Given the description of an element on the screen output the (x, y) to click on. 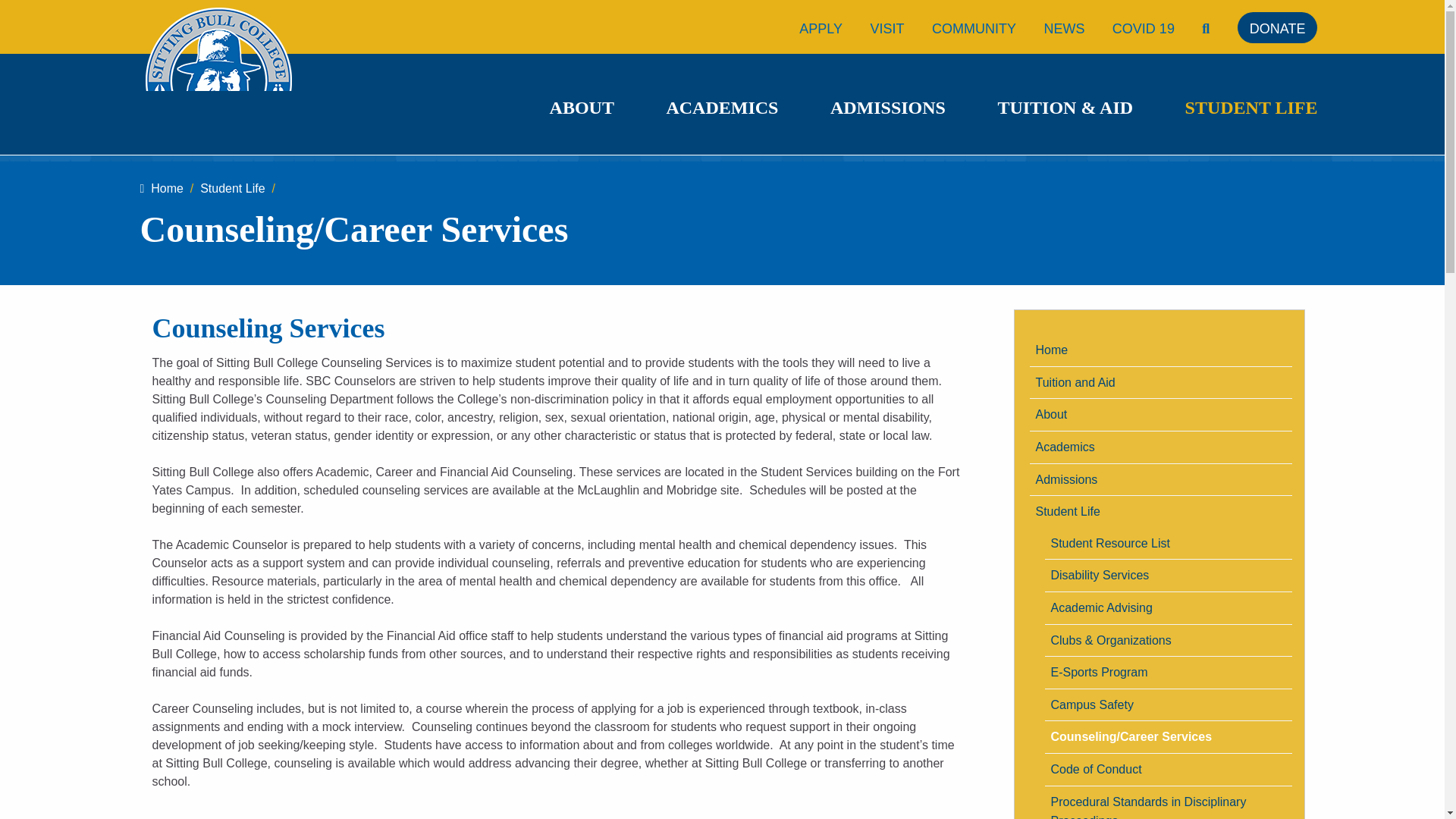
Student Life (232, 187)
APPLY (821, 28)
DONATE (1277, 28)
COVID 19 (1143, 28)
STUDENT LIFE (1251, 107)
ADMISSIONS (886, 107)
NEWS (1063, 28)
ACADEMICS (721, 107)
Home (1160, 350)
  Home (161, 187)
